Given the description of an element on the screen output the (x, y) to click on. 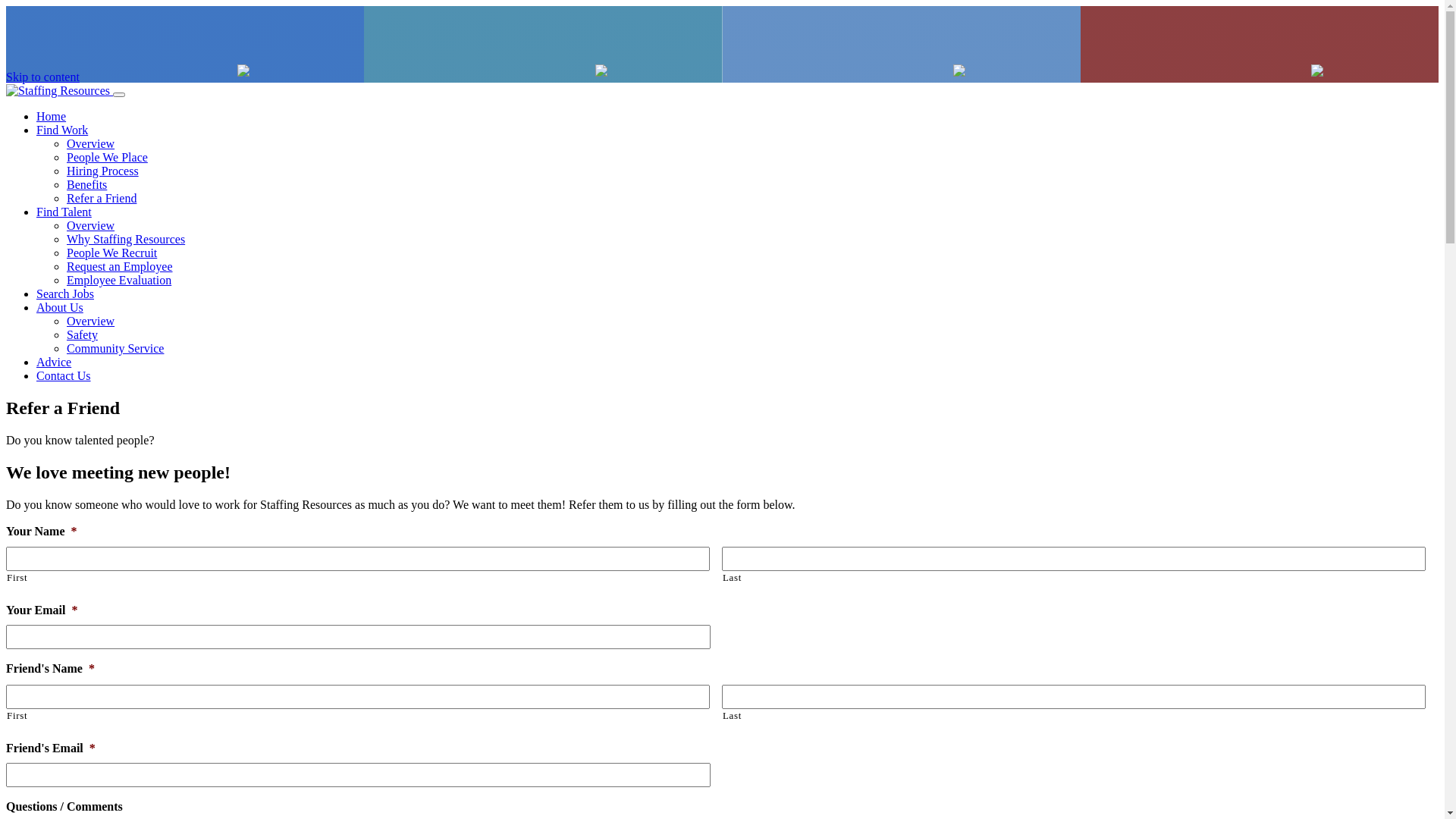
Find Talent Element type: text (63, 211)
Request an Employee Element type: text (119, 266)
Home Element type: text (50, 115)
Search Jobs Element type: text (65, 293)
Overview Element type: text (90, 143)
Employee Evaluation Element type: text (118, 279)
Skip to content Element type: text (42, 76)
Benefits Element type: text (86, 184)
Community Service Element type: text (114, 348)
Contact Us Element type: text (63, 375)
About Us Element type: text (59, 307)
Find Work Element type: text (61, 129)
Overview Element type: text (90, 320)
Why Staffing Resources Element type: text (125, 238)
Advice Element type: text (53, 361)
People We Recruit Element type: text (111, 252)
Safety Element type: text (81, 334)
Overview Element type: text (90, 225)
People We Place Element type: text (106, 156)
Hiring Process Element type: text (102, 170)
Refer a Friend Element type: text (101, 197)
